Given the description of an element on the screen output the (x, y) to click on. 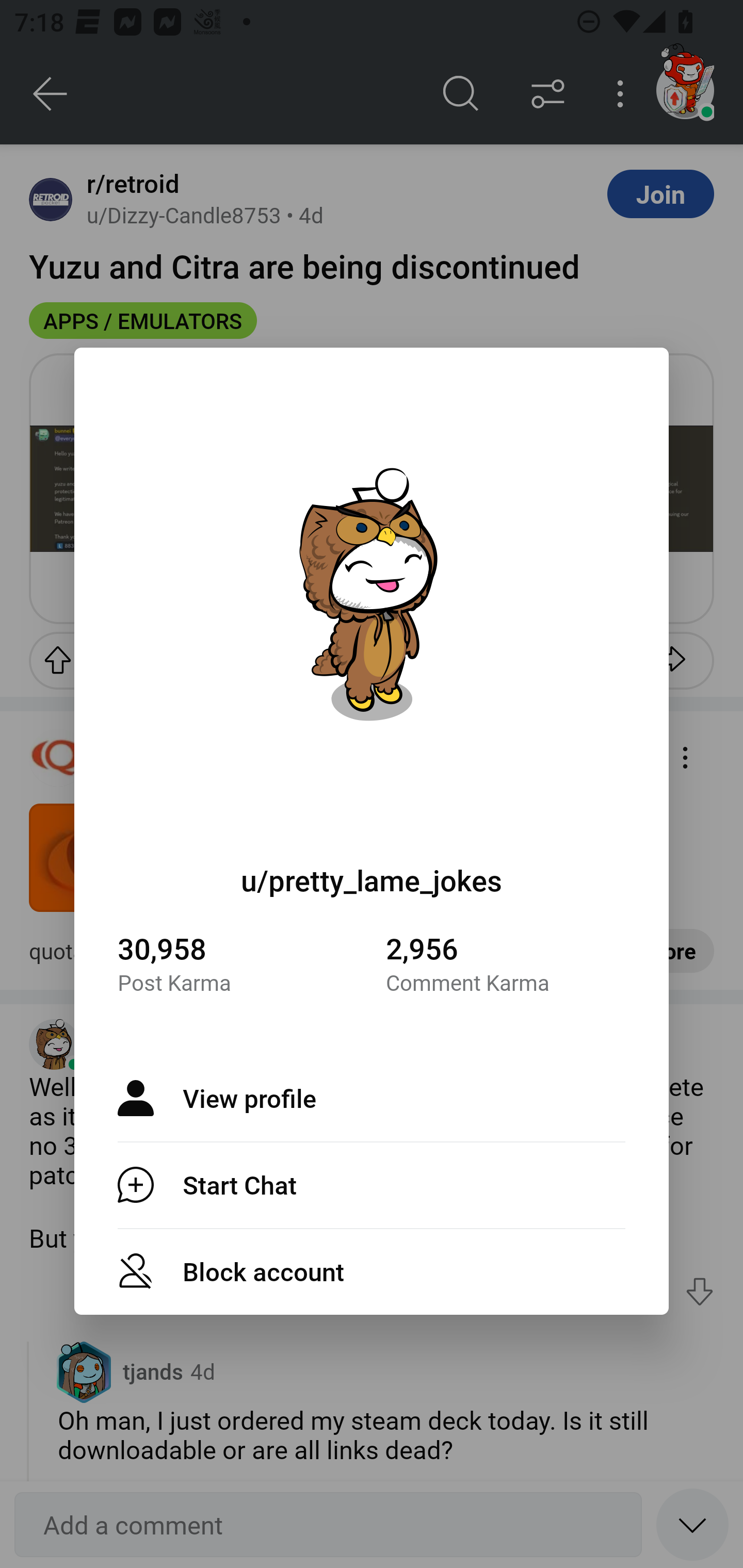
u/pretty_lame_jokes (371, 880)
View profile (371, 1098)
Start Chat (371, 1184)
Block account (371, 1270)
